Given the description of an element on the screen output the (x, y) to click on. 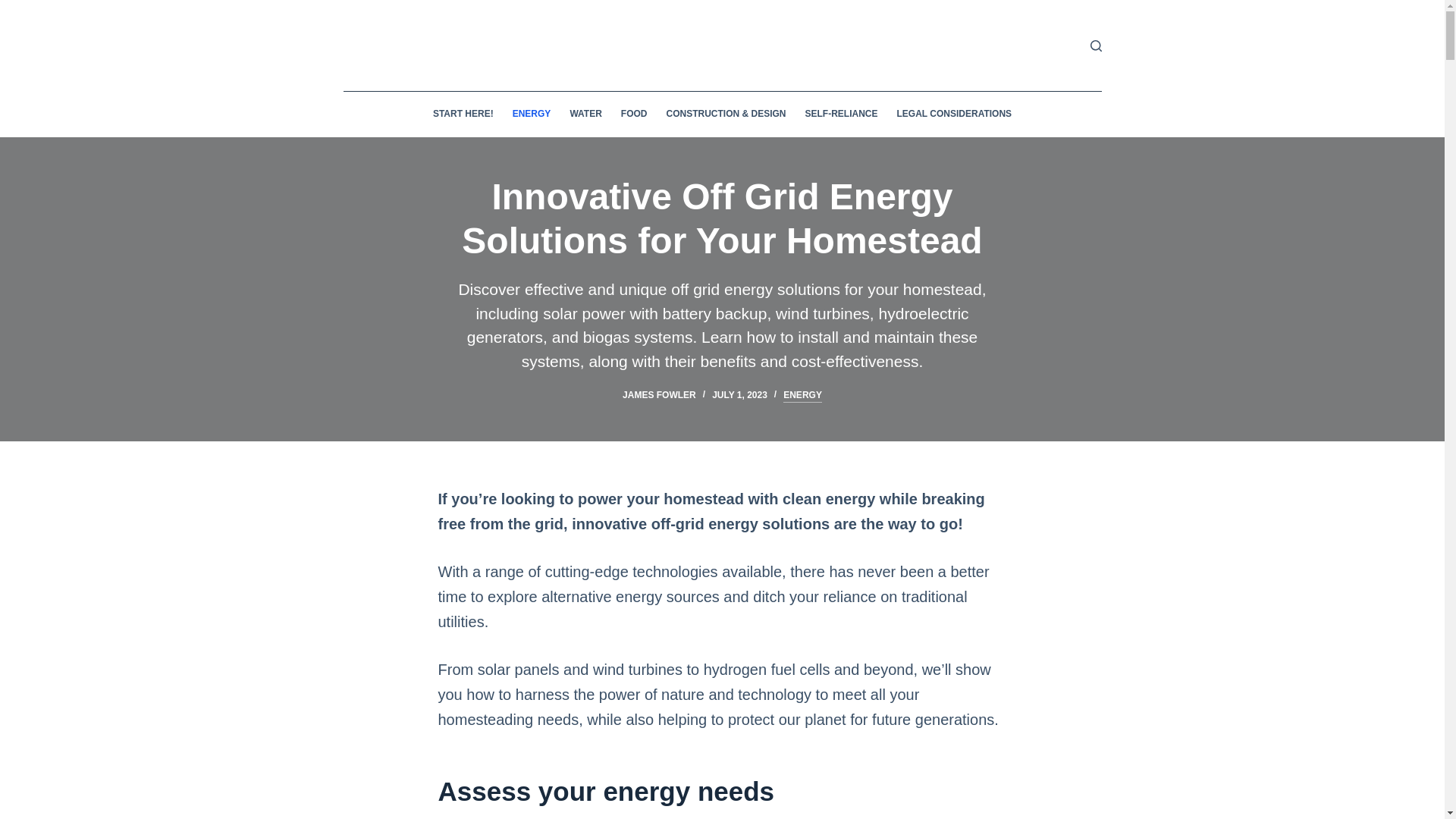
JAMES FOWLER (659, 394)
START HERE! (462, 114)
SELF-RELIANCE (840, 114)
LEGAL CONSIDERATIONS (954, 114)
Skip to content (15, 7)
FOOD (633, 114)
ENERGY (531, 114)
ENERGY (802, 395)
Innovative Off Grid Energy Solutions for Your Homestead (722, 218)
Posts by James Fowler (659, 394)
